Given the description of an element on the screen output the (x, y) to click on. 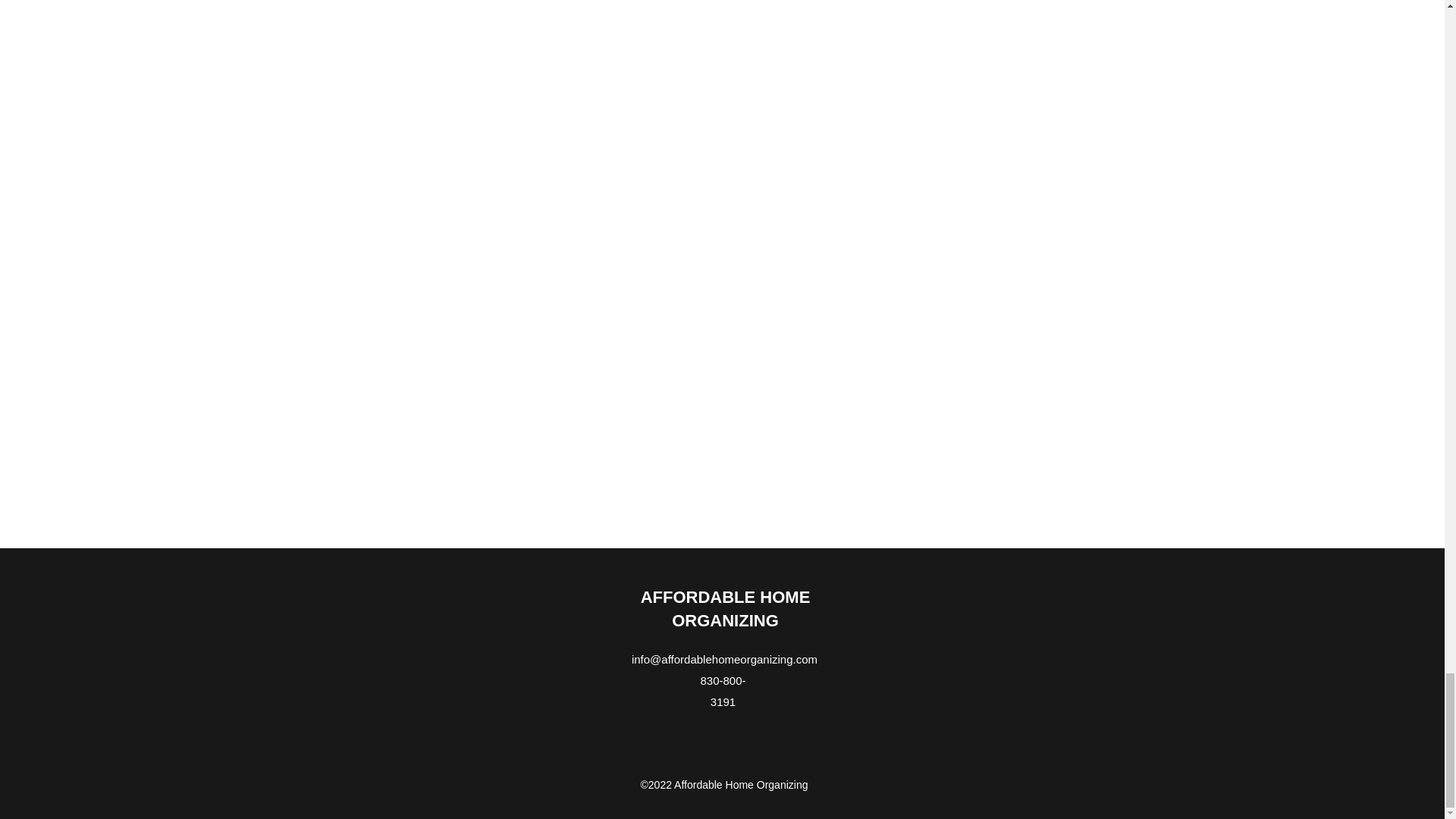
AFFORDABLE HOME ORGANIZING (725, 608)
